Given the description of an element on the screen output the (x, y) to click on. 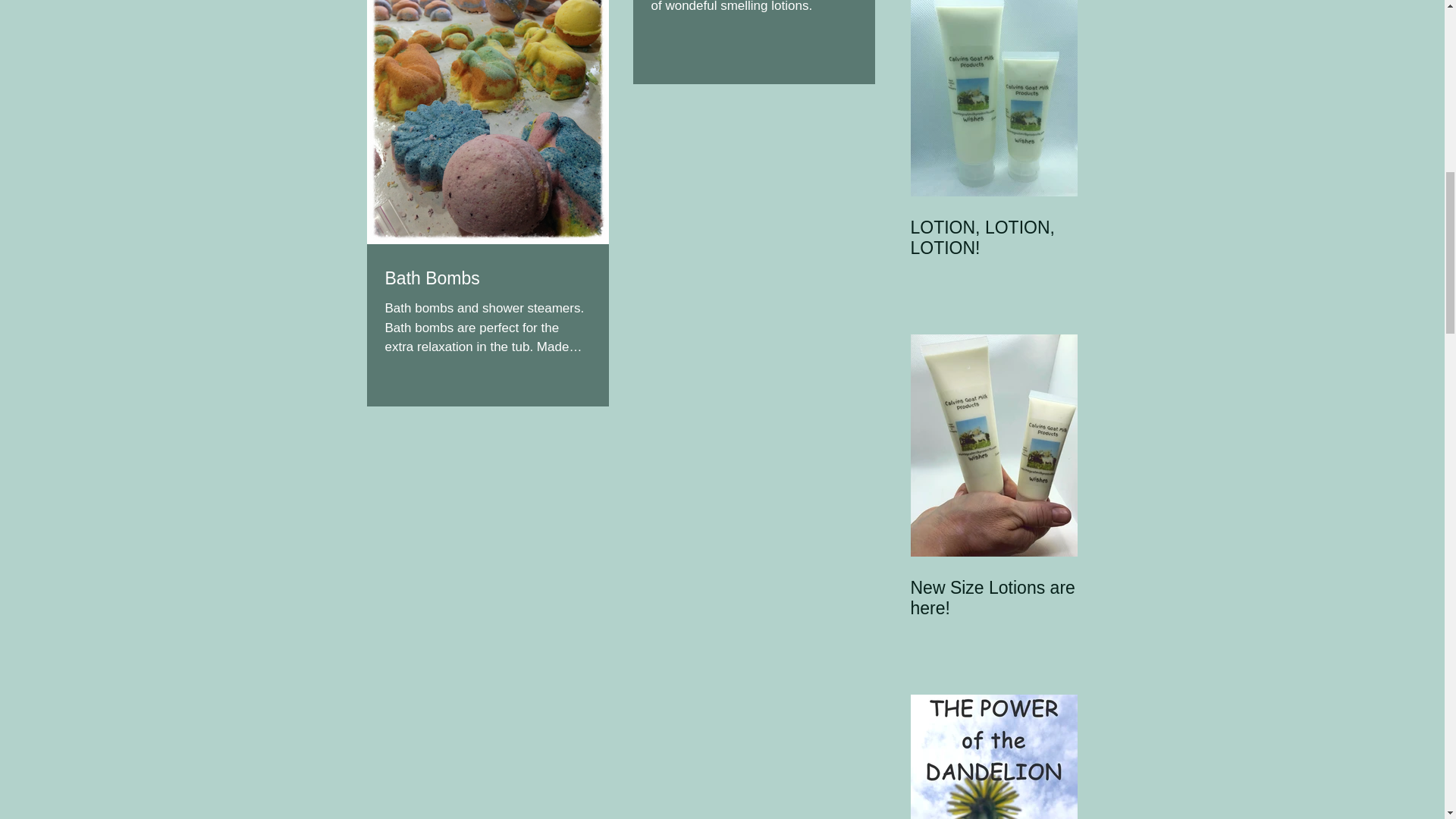
New Size Lotions are here! (993, 598)
LOTION, LOTION, LOTION! (993, 237)
Bath Bombs (488, 278)
